Given the description of an element on the screen output the (x, y) to click on. 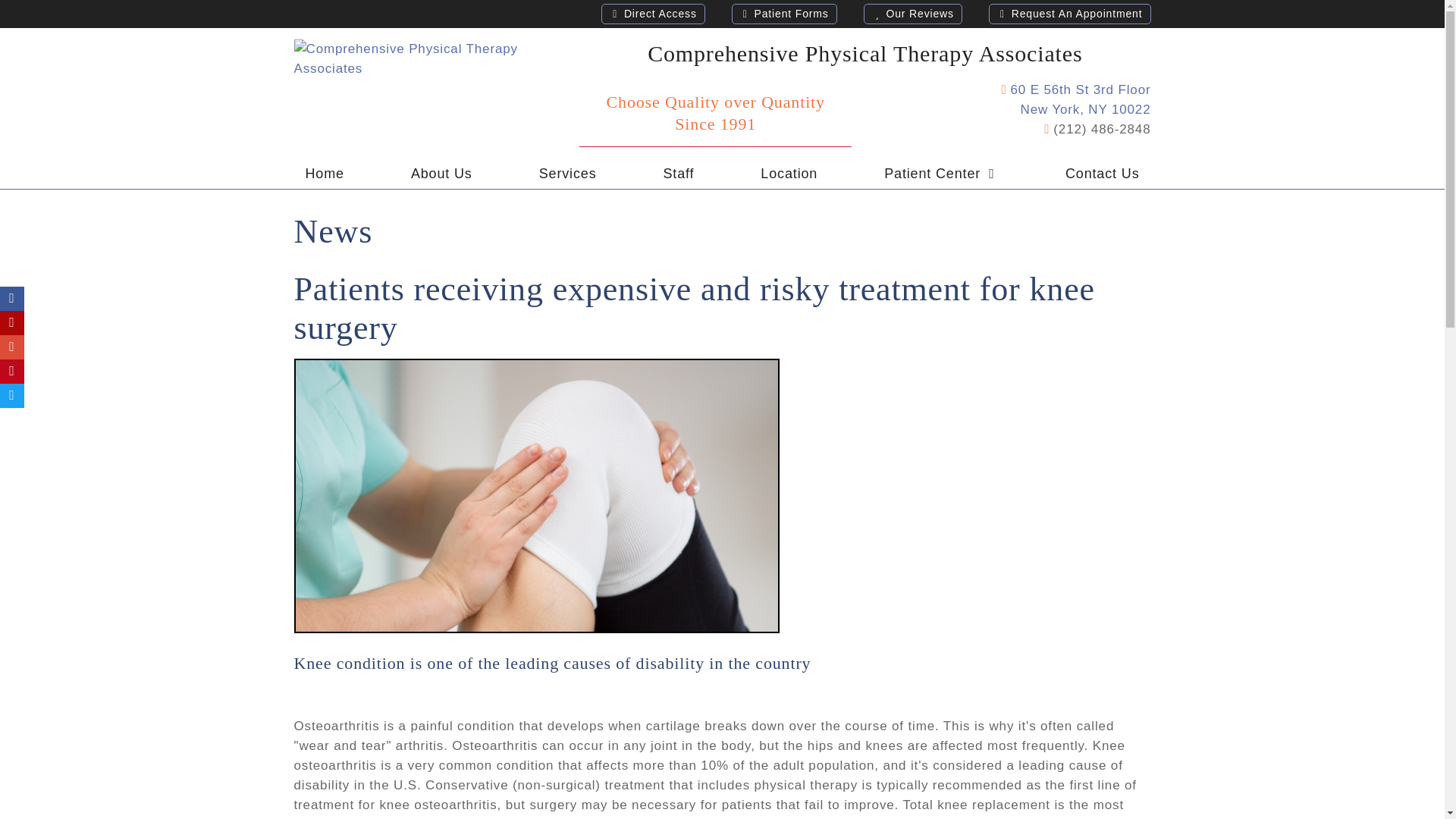
Staff (677, 173)
Patient Center (941, 173)
Read Our Reviews (652, 14)
Read Our Reviews (1069, 14)
Direct Access (652, 14)
Our Reviews (912, 14)
Location (788, 173)
Read Our Reviews (784, 14)
Services (567, 173)
Contact Us (1102, 173)
